Given the description of an element on the screen output the (x, y) to click on. 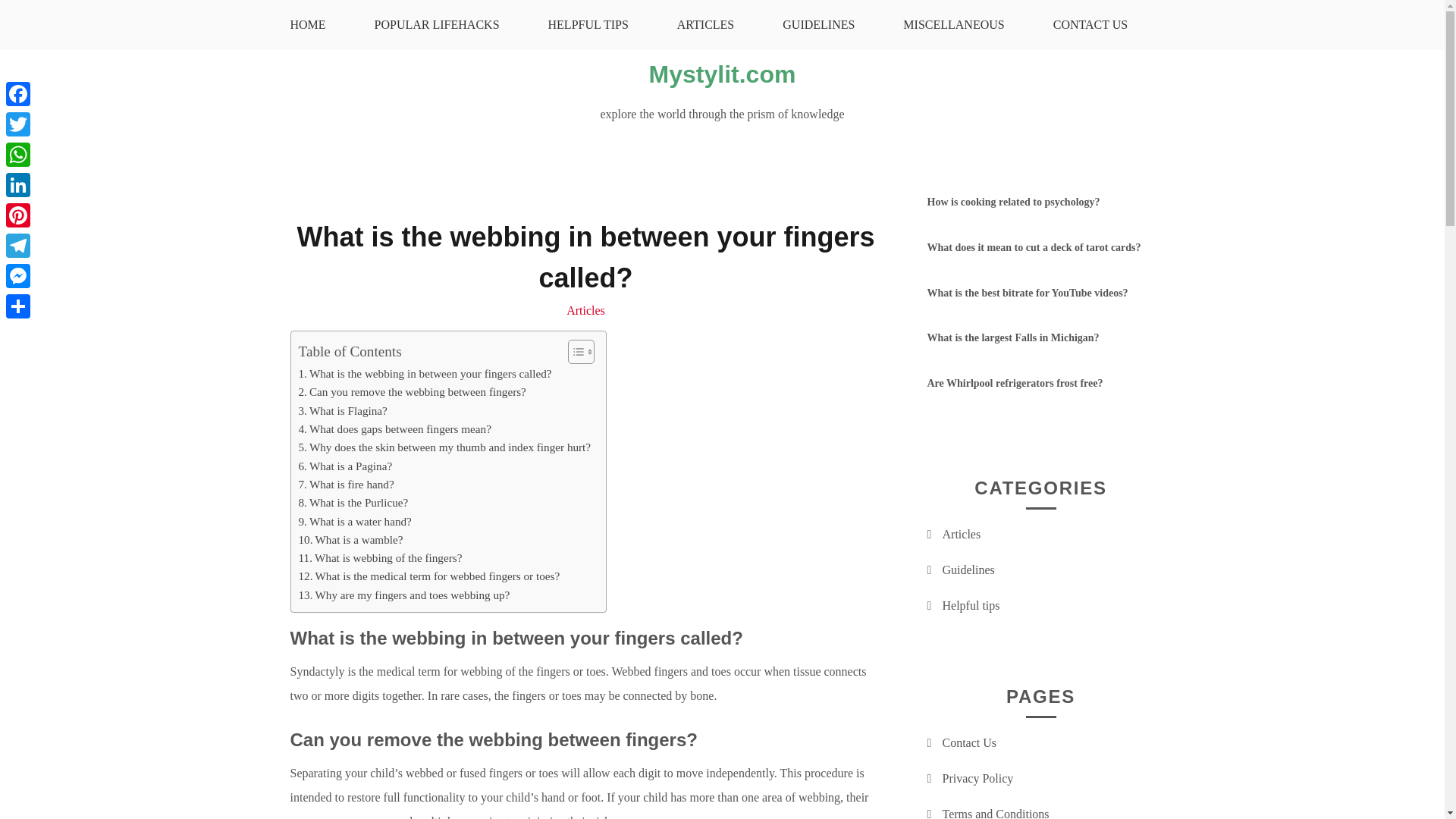
What is fire hand? (346, 484)
What is a water hand? (355, 521)
What is the Purlicue? (353, 502)
What is Flagina? (342, 411)
What is the Purlicue? (353, 502)
What is the medical term for webbed fingers or toes? (429, 576)
HOME (306, 24)
Why does the skin between my thumb and index finger hurt? (444, 447)
What is the medical term for webbed fingers or toes? (429, 576)
How is cooking related to psychology? (1012, 202)
HELPFUL TIPS (587, 24)
Can you remove the webbing between fingers? (411, 392)
Mystylit.com (722, 73)
What is fire hand? (346, 484)
Why are my fingers and toes webbing up? (404, 595)
